Given the description of an element on the screen output the (x, y) to click on. 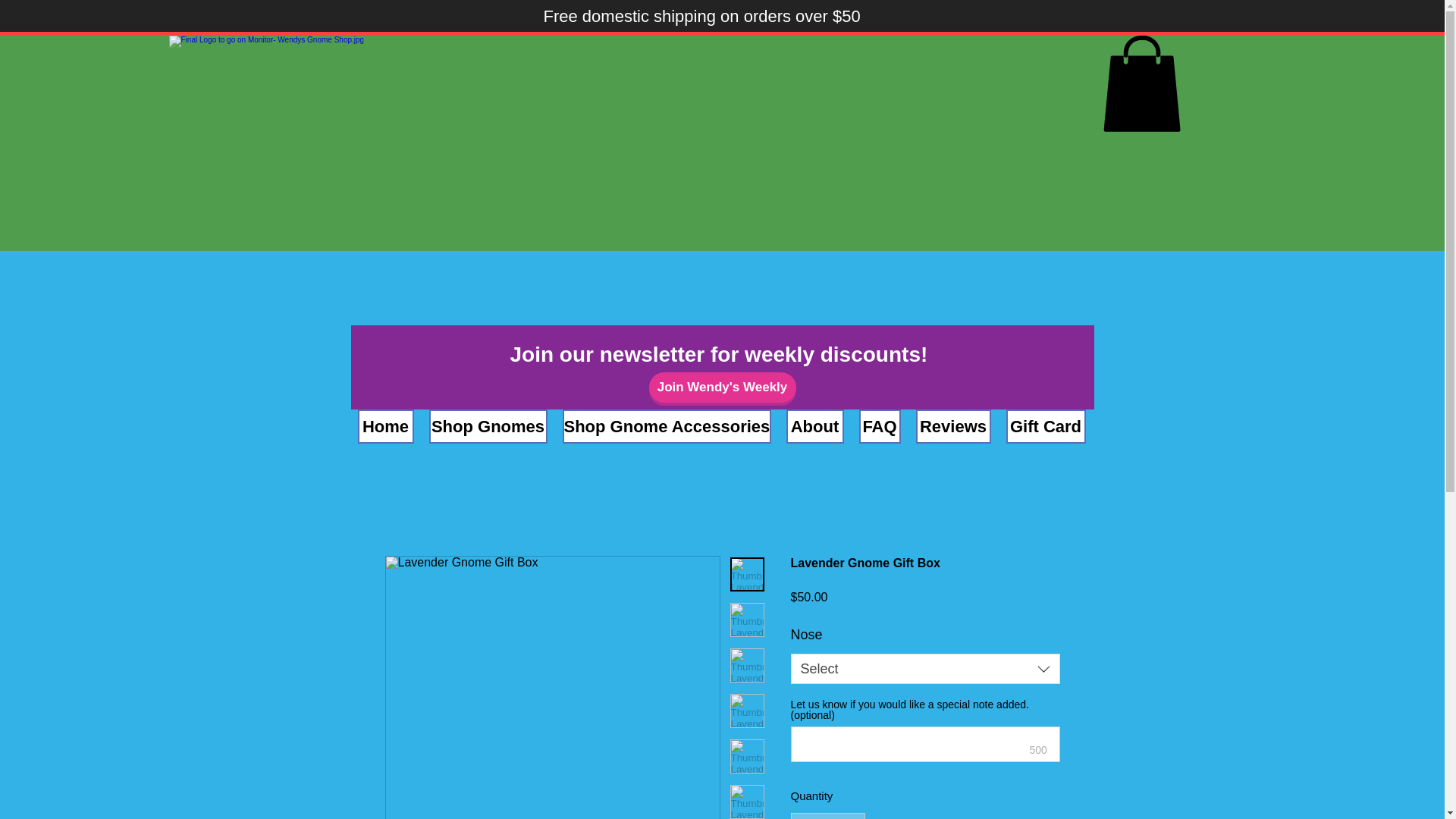
Home (385, 426)
Join Wendy's Weekly (722, 387)
FAQ (879, 426)
Shop Gnomes (488, 426)
1 (827, 816)
About (814, 426)
Reviews (953, 426)
Shop Gnome Accessories (666, 426)
Gift Card (1045, 426)
Select (924, 668)
